Given the description of an element on the screen output the (x, y) to click on. 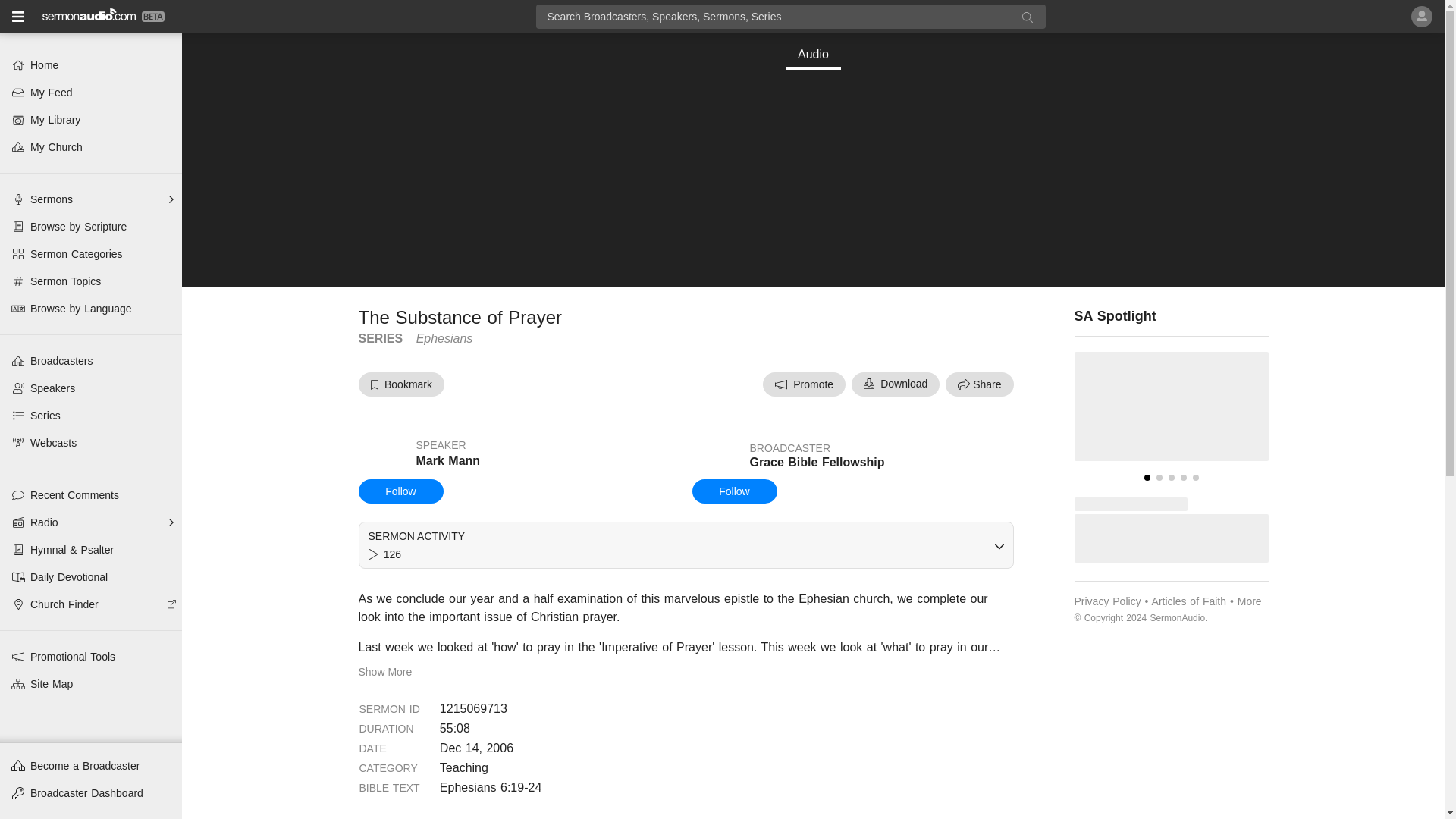
Series (91, 415)
Webcasts (91, 442)
Daily Devotional (91, 576)
Radio (91, 522)
Sermon Categories (91, 253)
My Feed (91, 92)
Sermons (91, 198)
Browse by Language (91, 308)
Site Map (91, 683)
Browse by Scripture (91, 226)
My Library (91, 119)
Church Finder (91, 604)
Promote this Sermon (803, 384)
Promotional Tools (91, 656)
My Church (91, 146)
